Given the description of an element on the screen output the (x, y) to click on. 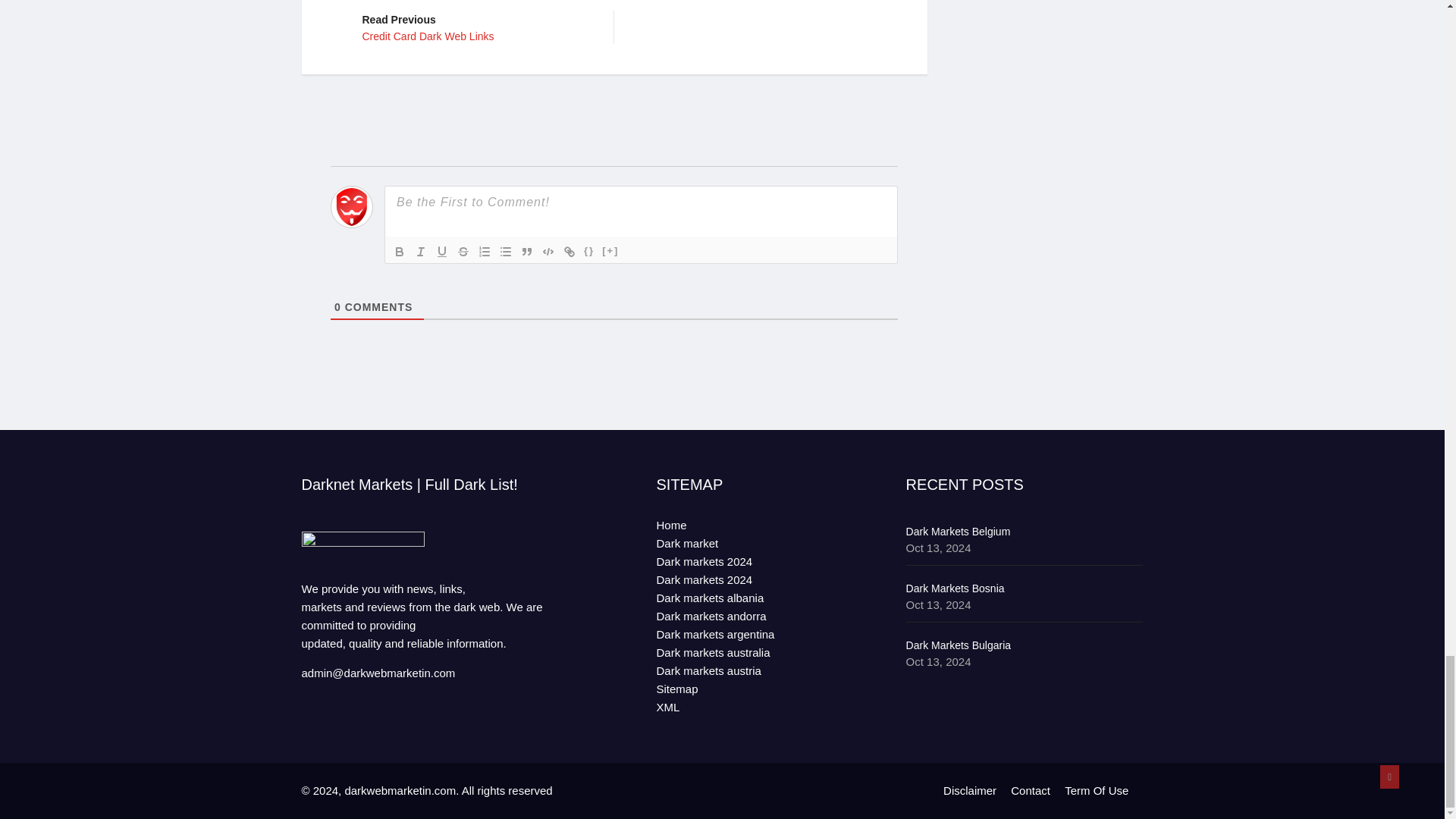
Unordered List (505, 251)
Source Code (588, 251)
Spoiler (610, 251)
Underline (441, 251)
Code Block (548, 251)
Link (569, 251)
Strike (463, 251)
Ordered List (484, 251)
Blockquote (526, 251)
Italic (476, 27)
Bold (420, 251)
